Given the description of an element on the screen output the (x, y) to click on. 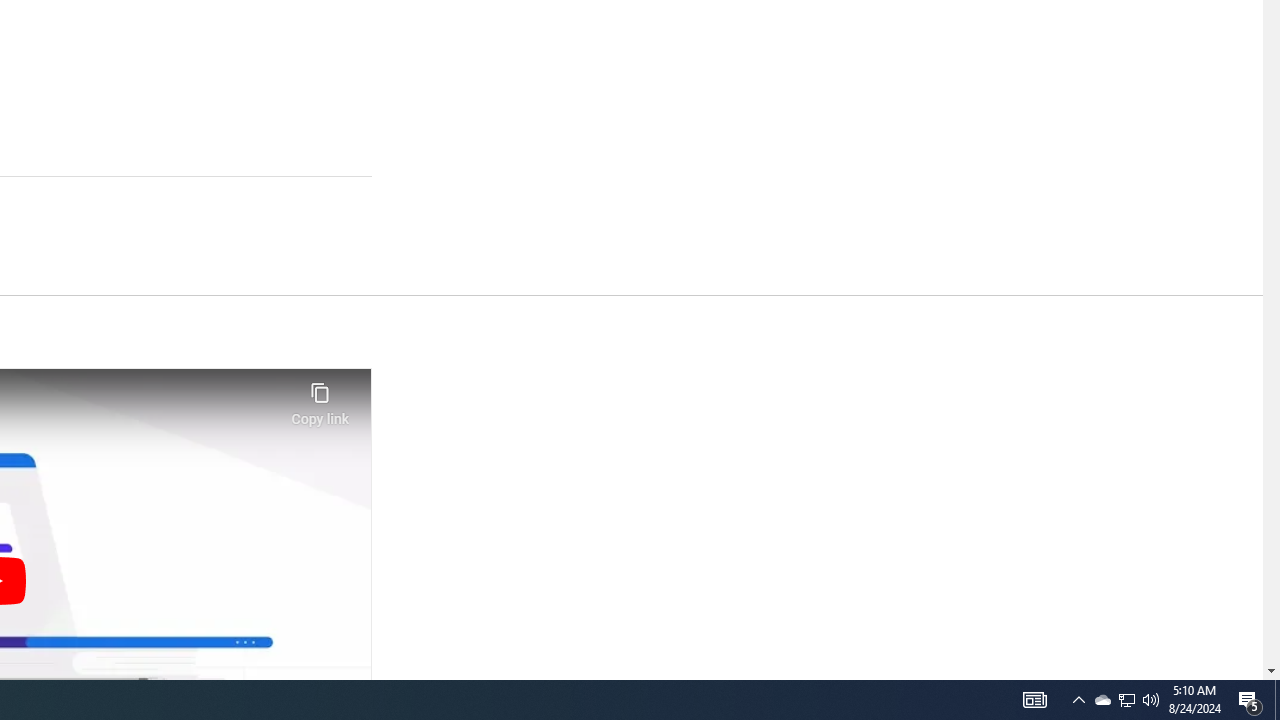
Copy link (319, 398)
